Given the description of an element on the screen output the (x, y) to click on. 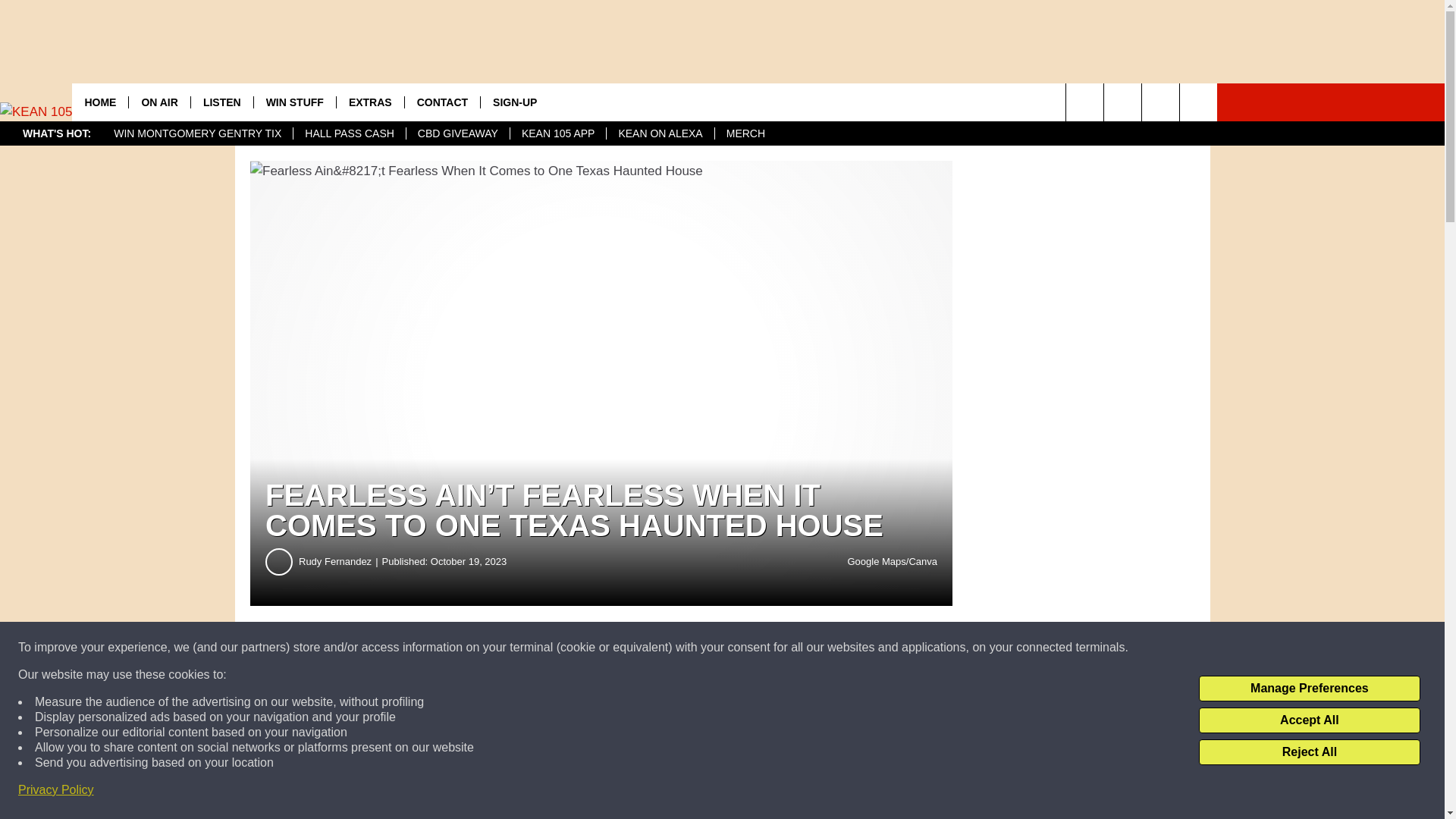
Privacy Policy (55, 789)
WHAT'S HOT: (56, 133)
HALL PASS CASH (349, 133)
Reject All (1309, 751)
HOME (99, 102)
KEAN ON ALEXA (659, 133)
ON AIR (158, 102)
WIN MONTGOMERY GENTRY TIX (196, 133)
MERCH (745, 133)
Share on Facebook (460, 647)
CBD GIVEAWAY (457, 133)
LISTEN (221, 102)
WIN STUFF (294, 102)
Manage Preferences (1309, 688)
Accept All (1309, 720)
